Given the description of an element on the screen output the (x, y) to click on. 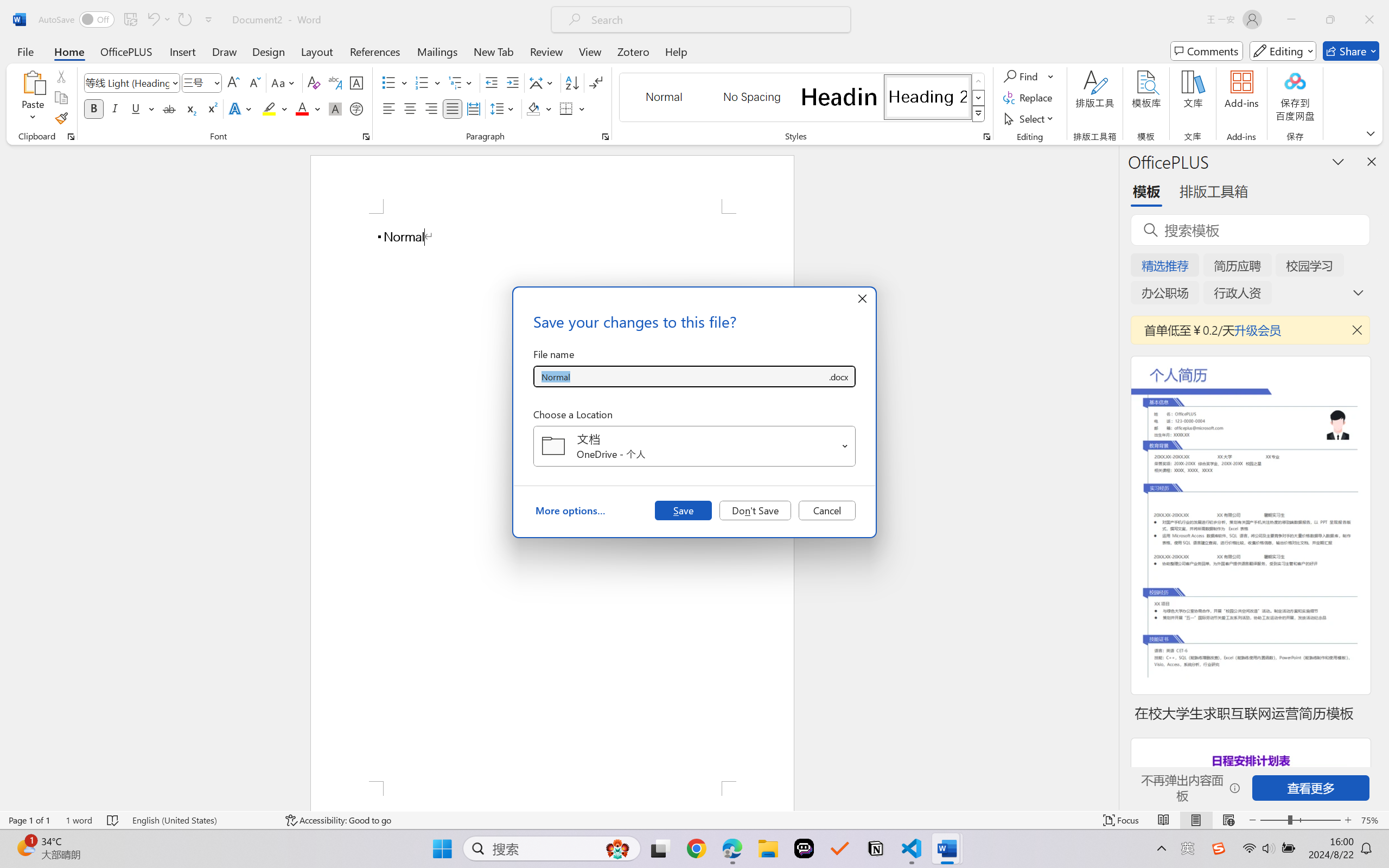
Font Size (196, 82)
Google Chrome (696, 848)
Save as type (837, 376)
Print Layout (1196, 819)
Undo Typing (158, 19)
Underline (135, 108)
Mode (1283, 50)
Spelling and Grammar Check No Errors (113, 819)
Choose a Location (694, 446)
Save (682, 509)
